Given the description of an element on the screen output the (x, y) to click on. 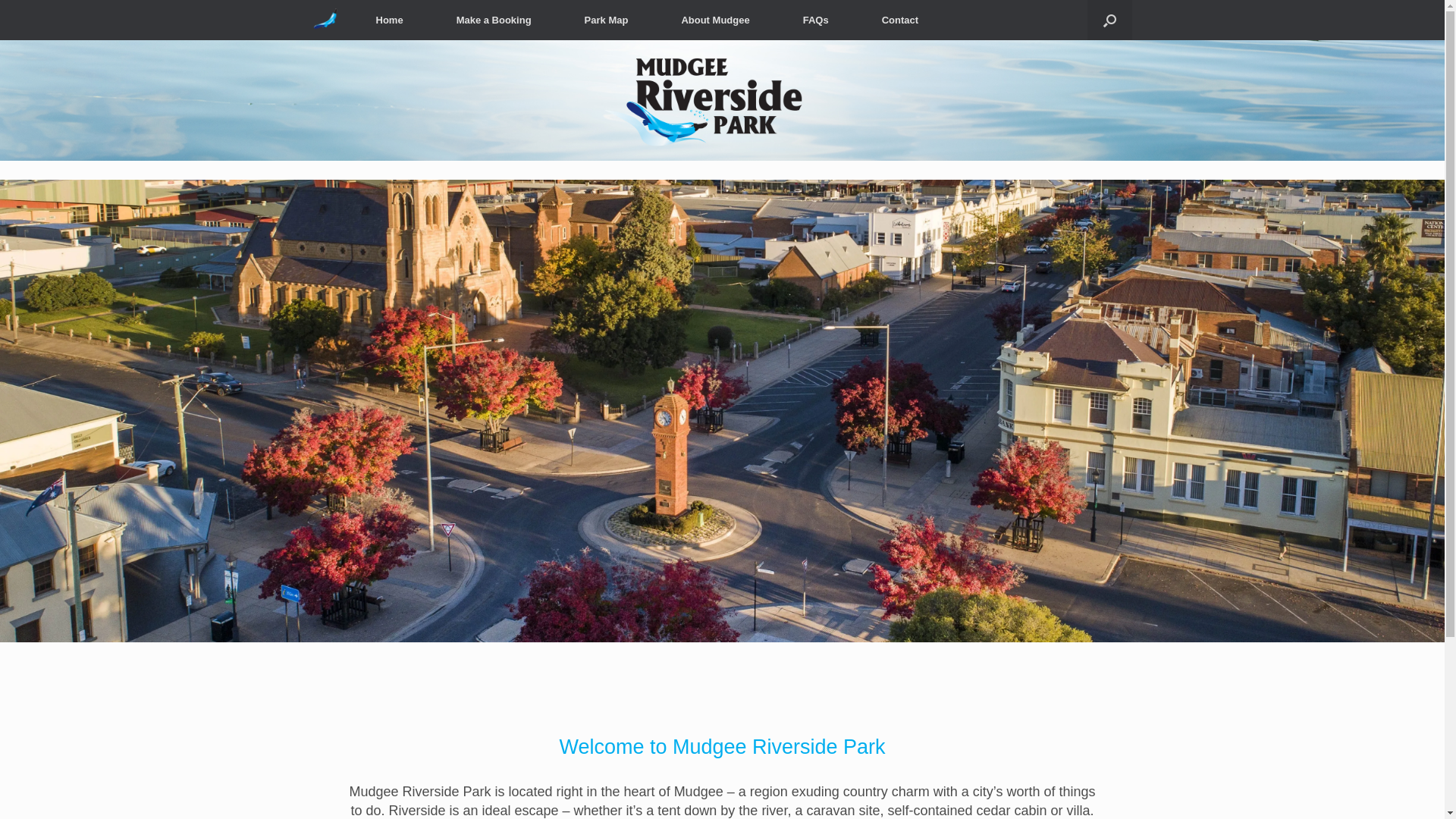
Home Element type: text (388, 20)
Make a Booking Element type: text (493, 20)
Park Map Element type: text (606, 20)
Contact Element type: text (899, 20)
About Mudgee Element type: text (714, 20)
FAQs Element type: text (815, 20)
Mudgee Riverside Park Element type: hover (324, 20)
